Given the description of an element on the screen output the (x, y) to click on. 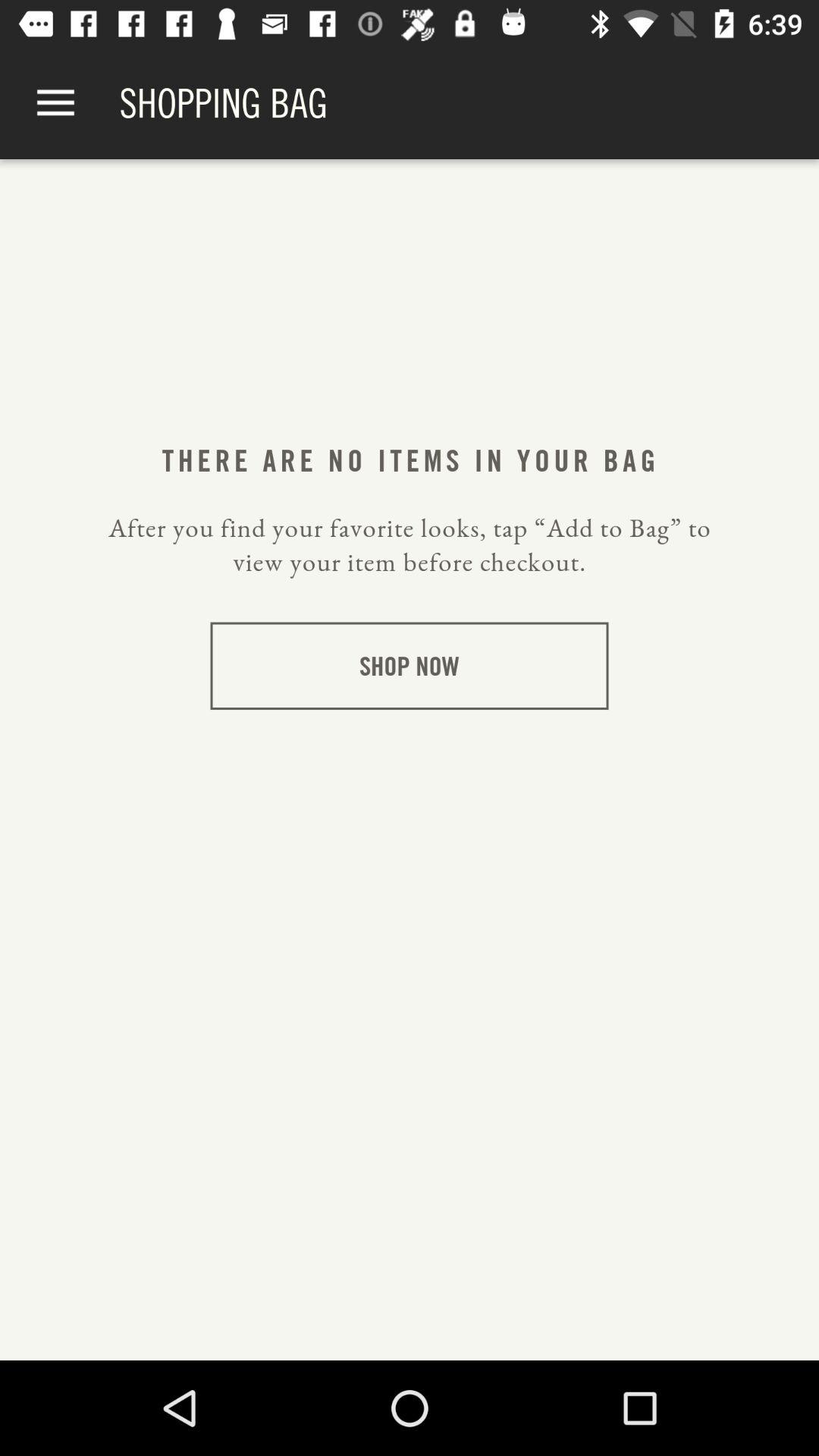
launch item below the shopping bag (409, 459)
